Given the description of an element on the screen output the (x, y) to click on. 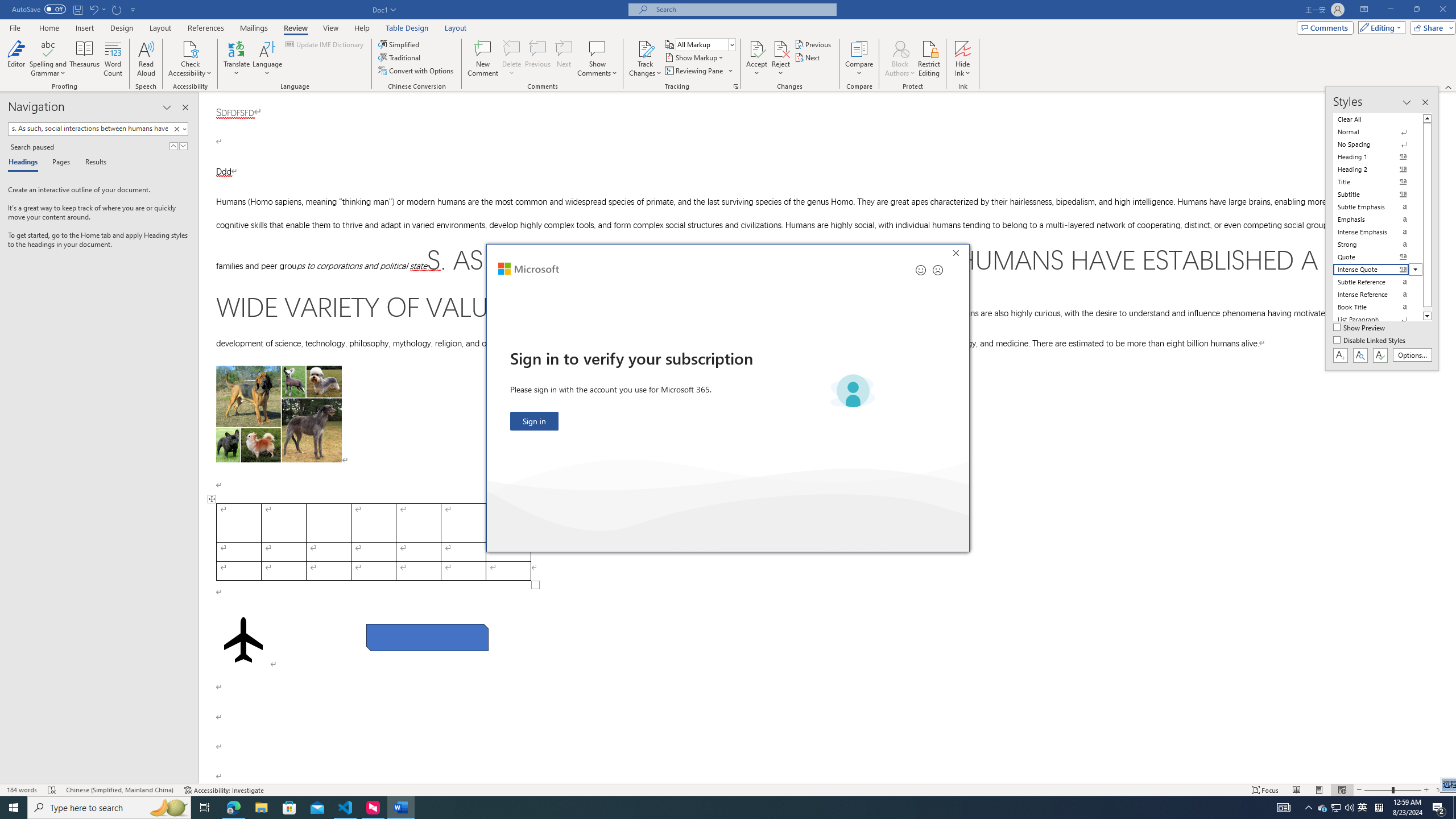
Clear (176, 128)
Delete (511, 58)
Hide Ink (962, 48)
Normal (1377, 131)
Next (808, 56)
Traditional (400, 56)
